Given the description of an element on the screen output the (x, y) to click on. 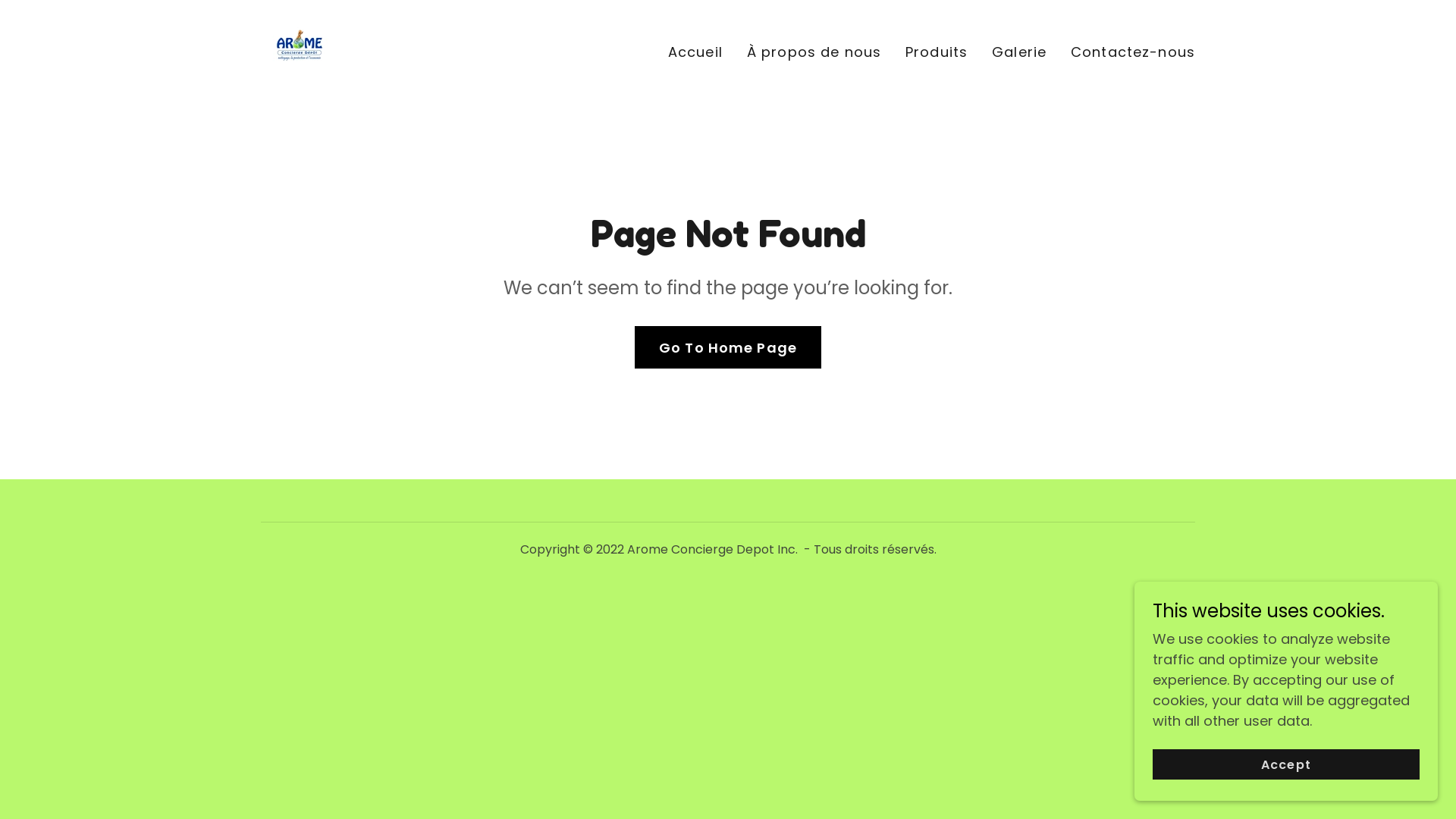
Accept Element type: text (1285, 764)
Go To Home Page Element type: text (727, 347)
Accueil Element type: text (695, 51)
Produits Element type: text (936, 51)
Contactez-nous Element type: text (1132, 51)
43000114011gc Element type: hover (298, 48)
Galerie Element type: text (1019, 51)
